Given the description of an element on the screen output the (x, y) to click on. 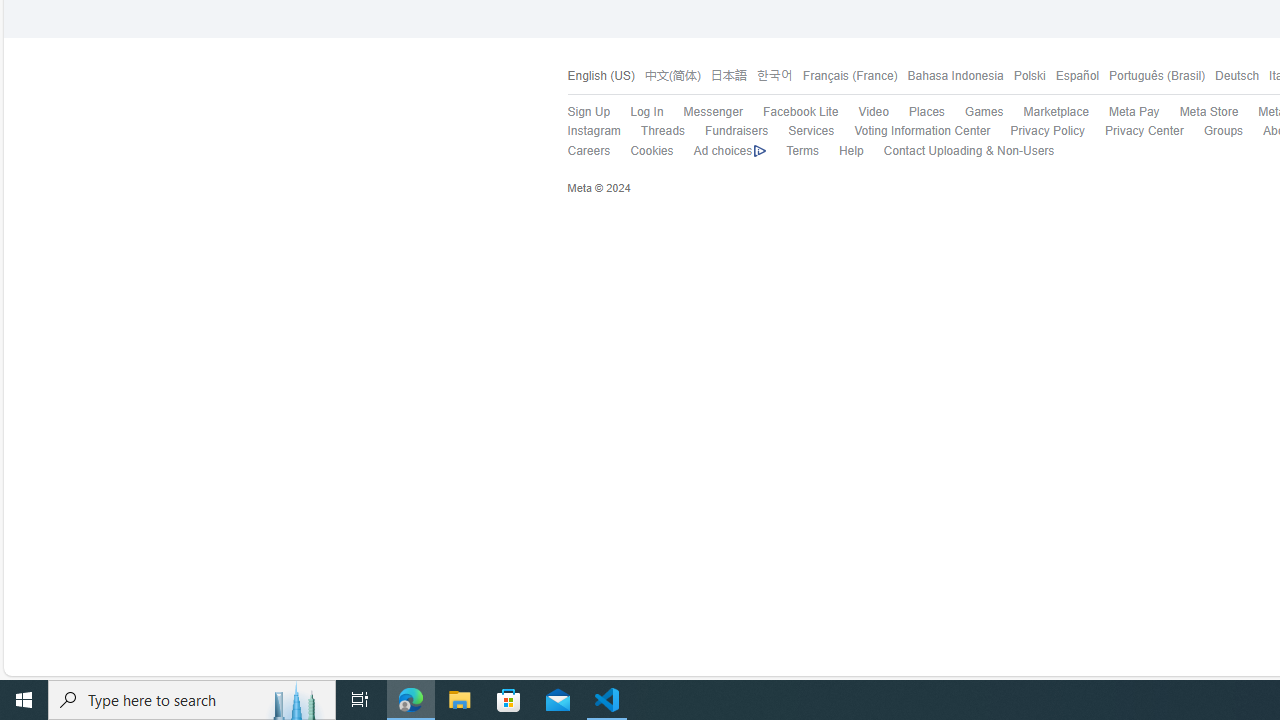
Voting Information Center (912, 131)
Privacy Center (1134, 131)
Places (916, 112)
Log In (646, 112)
Sign Up (578, 112)
Groups (1213, 131)
